Given the description of an element on the screen output the (x, y) to click on. 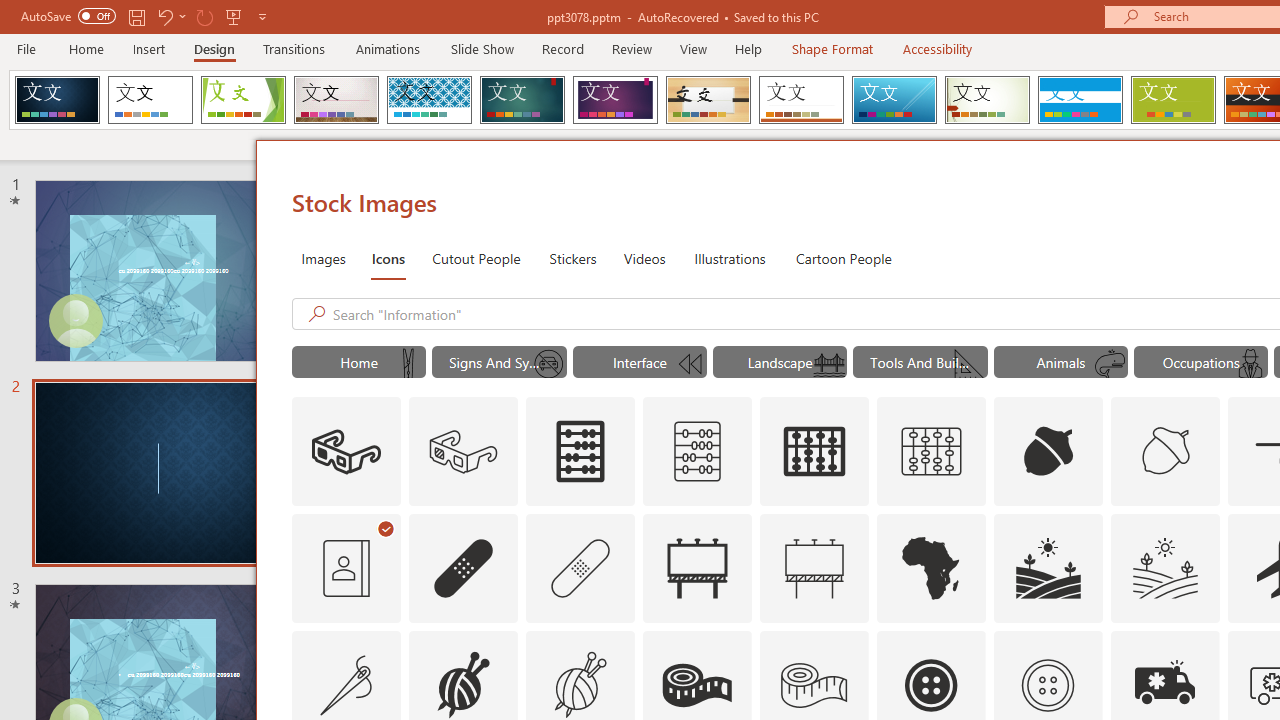
AutomationID: Icons_Advertising (697, 568)
AutomationID: Icons_AdhesiveBandage_M (580, 568)
Organic (708, 100)
Dividend (57, 100)
AutomationID: Icons_Advertising_M (815, 568)
AutomationID: Icons_Whale_M (1109, 364)
AutomationID: Icons_Abacus_M (697, 452)
AutomationID: Icons_Africa (931, 568)
AutomationID: Icons_DetectiveMale_M (1249, 364)
